Given the description of an element on the screen output the (x, y) to click on. 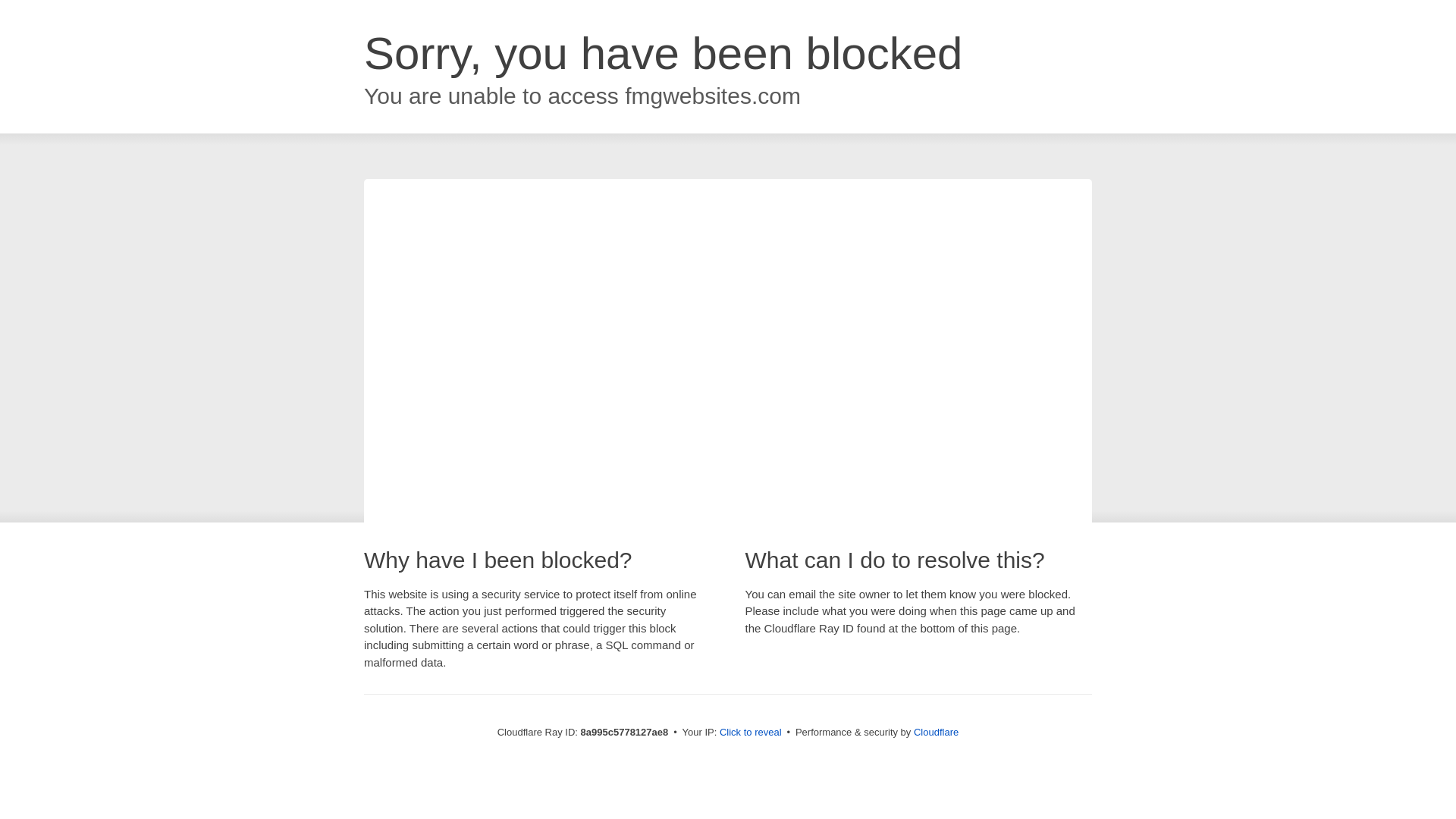
Cloudflare (936, 731)
Click to reveal (750, 732)
